Given the description of an element on the screen output the (x, y) to click on. 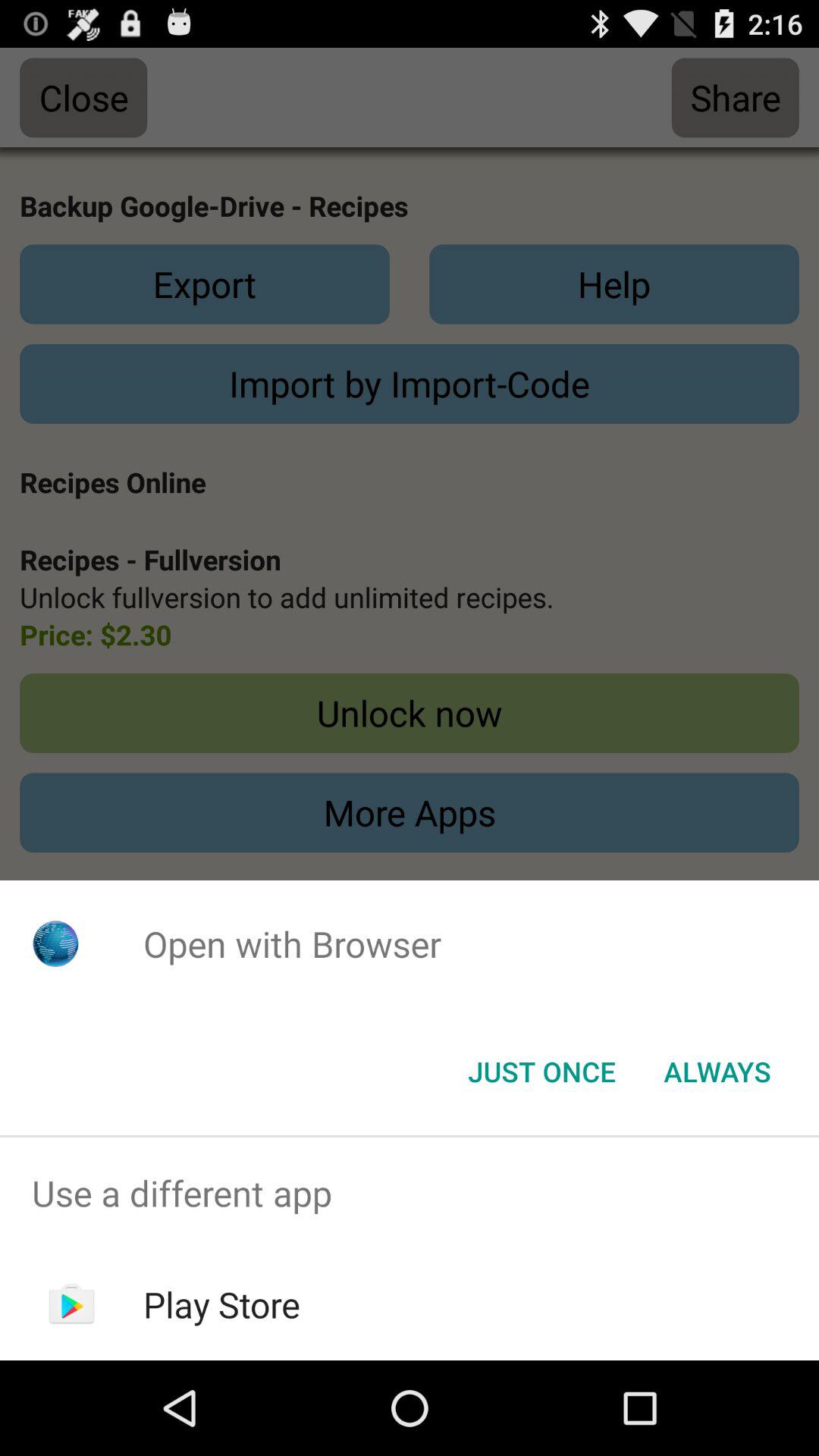
launch use a different item (409, 1192)
